Given the description of an element on the screen output the (x, y) to click on. 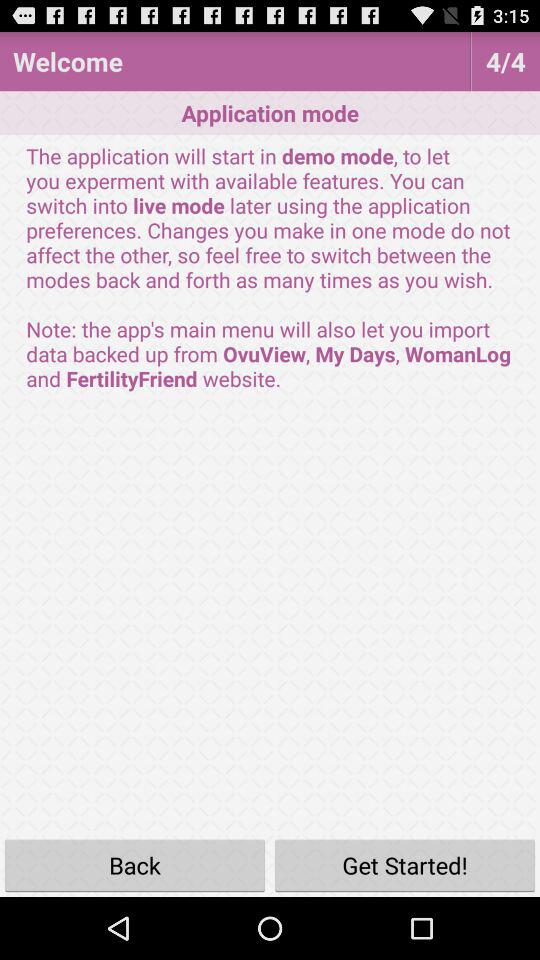
scroll until the get started! item (405, 864)
